Given the description of an element on the screen output the (x, y) to click on. 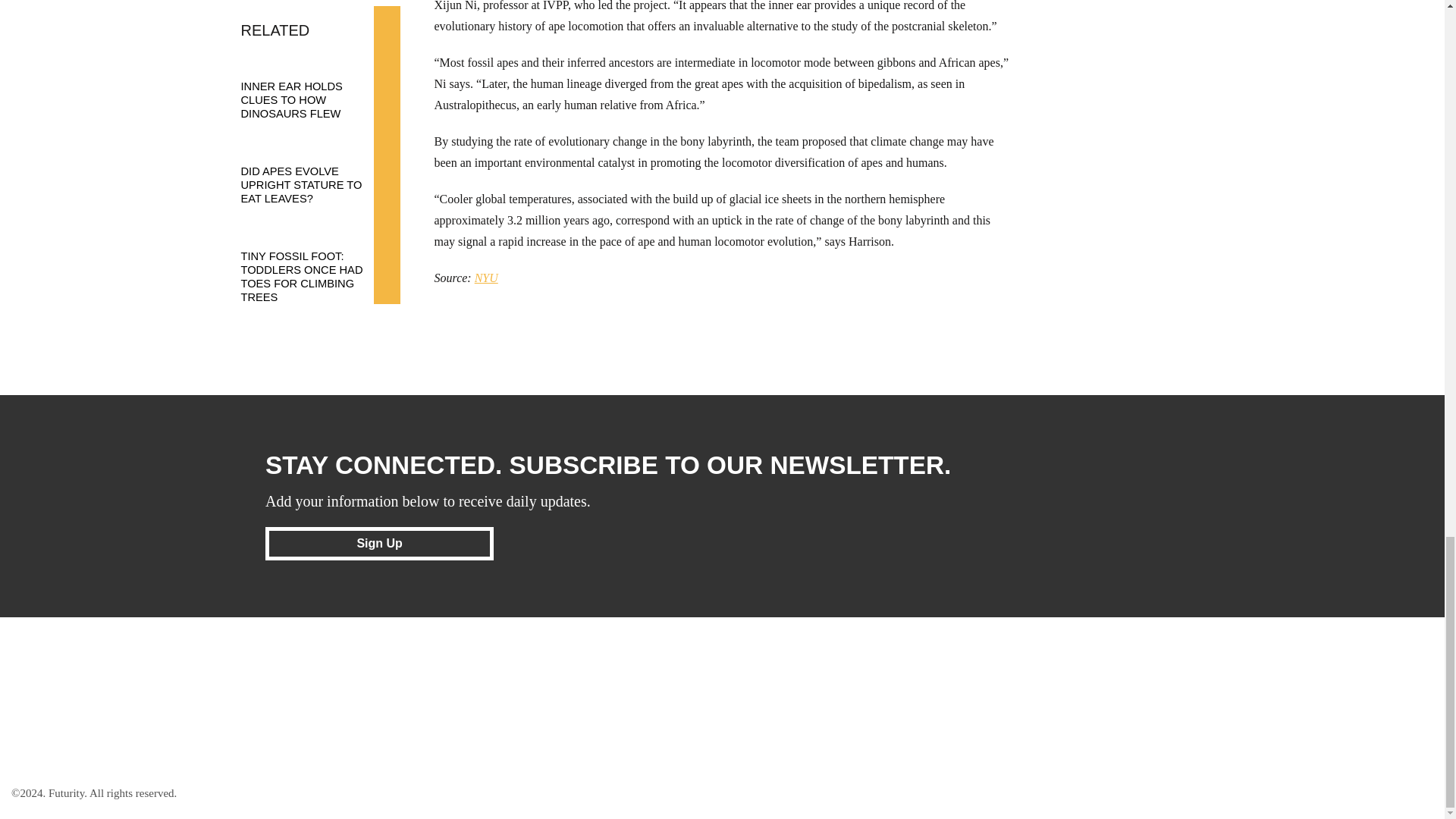
Did apes evolve upright stature to eat leaves? (313, 170)
Inner ear holds clues to how dinosaurs flew (313, 85)
Tiny fossil foot: Toddlers once had toes for climbing trees (313, 261)
